Given the description of an element on the screen output the (x, y) to click on. 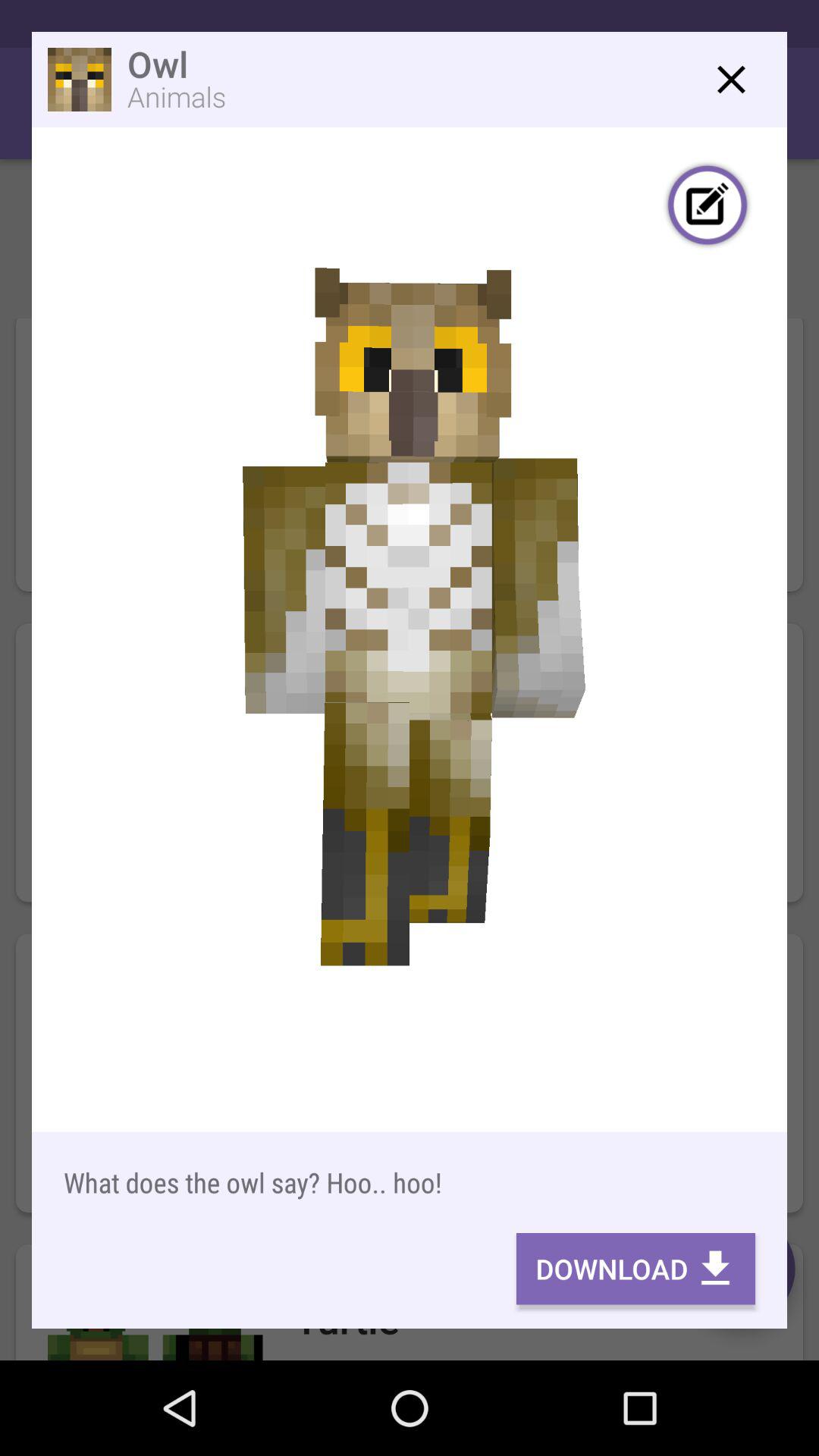
edit skin (707, 206)
